Given the description of an element on the screen output the (x, y) to click on. 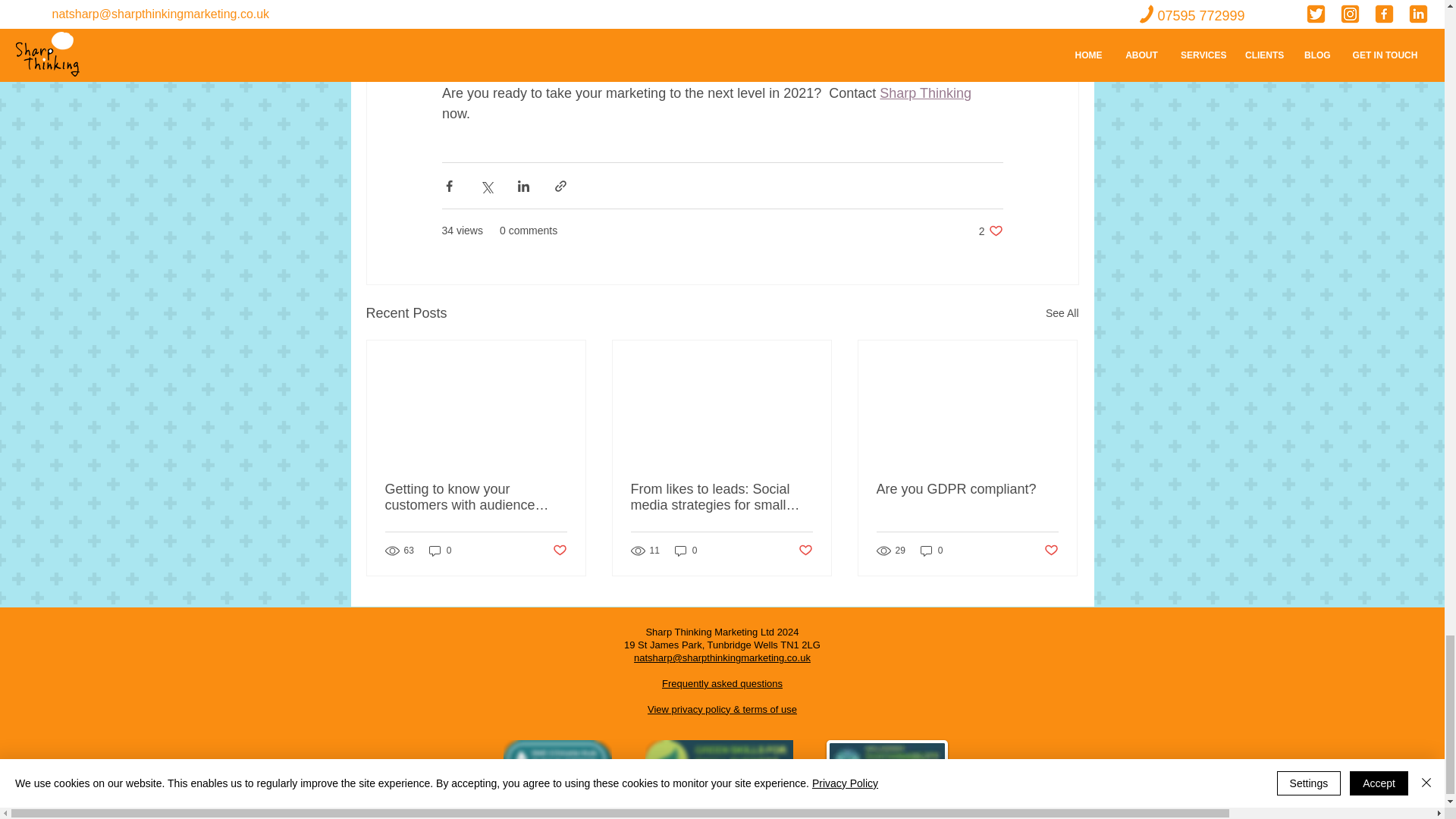
care provider during COVID-19 (712, 41)
online service business (758, 31)
Sharp Thinking (990, 230)
